Given the description of an element on the screen output the (x, y) to click on. 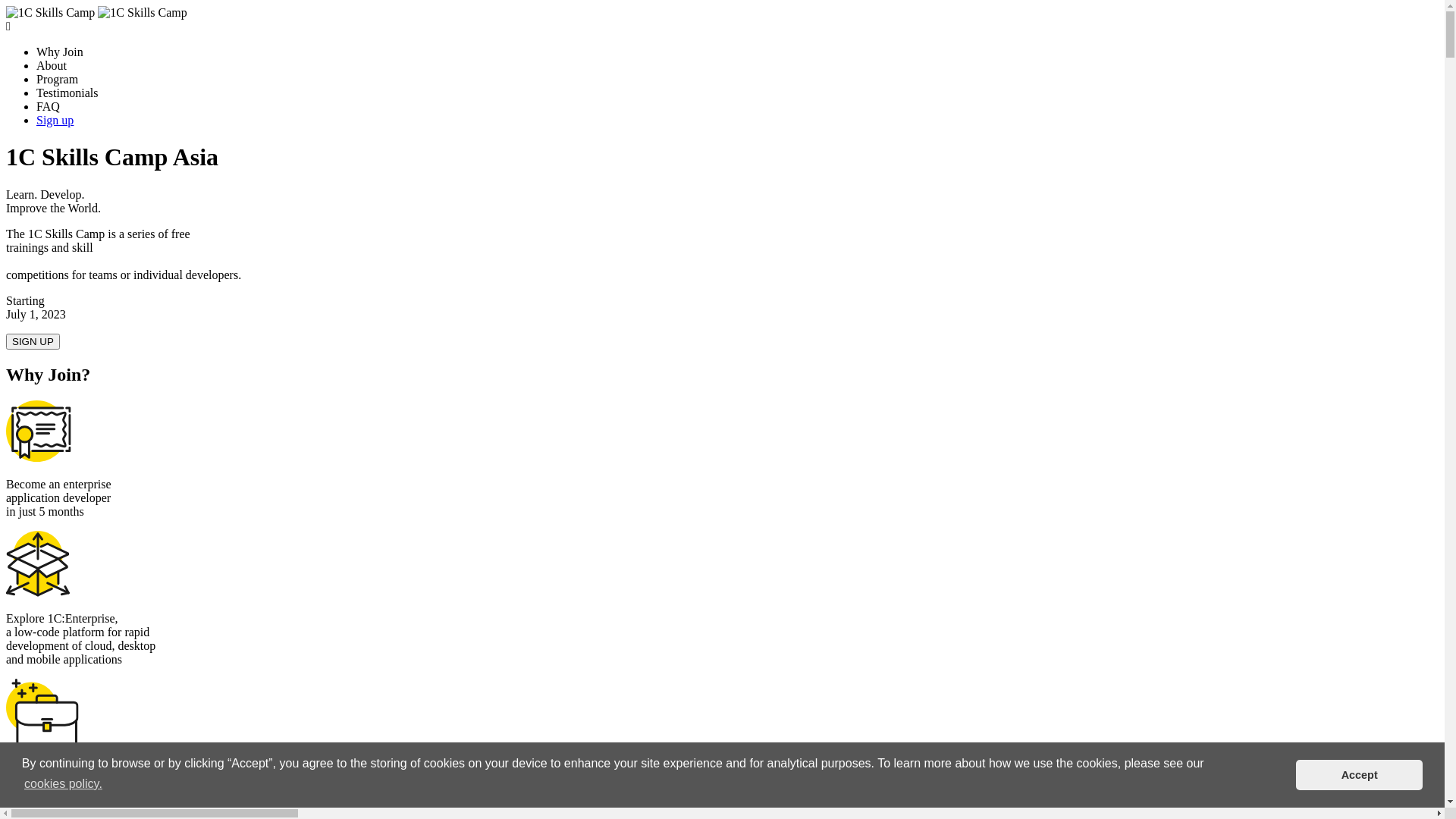
SIGN UP Element type: text (32, 341)
Accept Element type: text (1358, 774)
Sign up Element type: text (54, 119)
cookies policy. Element type: text (62, 783)
